Given the description of an element on the screen output the (x, y) to click on. 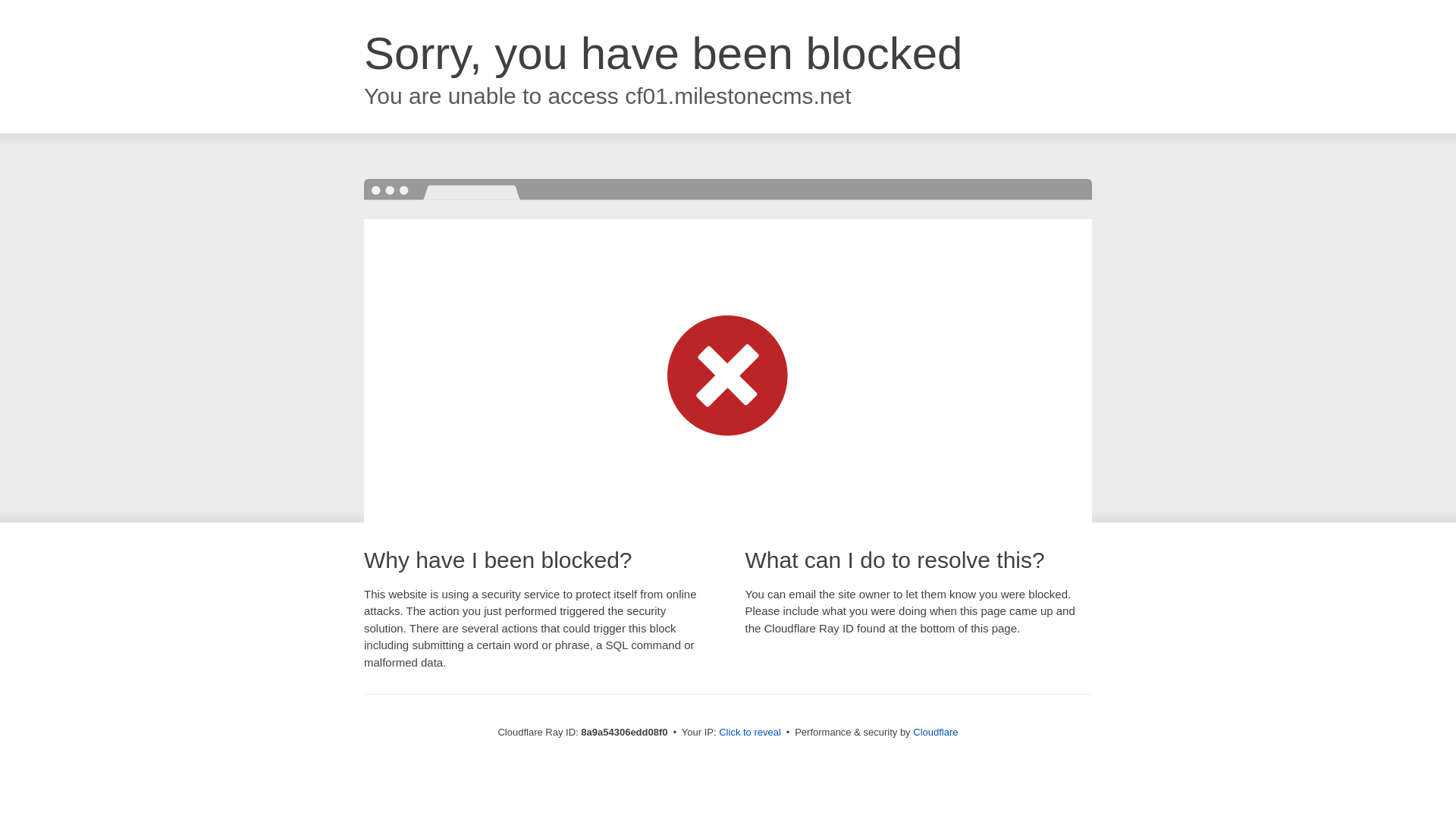
Click to reveal (749, 732)
Cloudflare (935, 731)
